Given the description of an element on the screen output the (x, y) to click on. 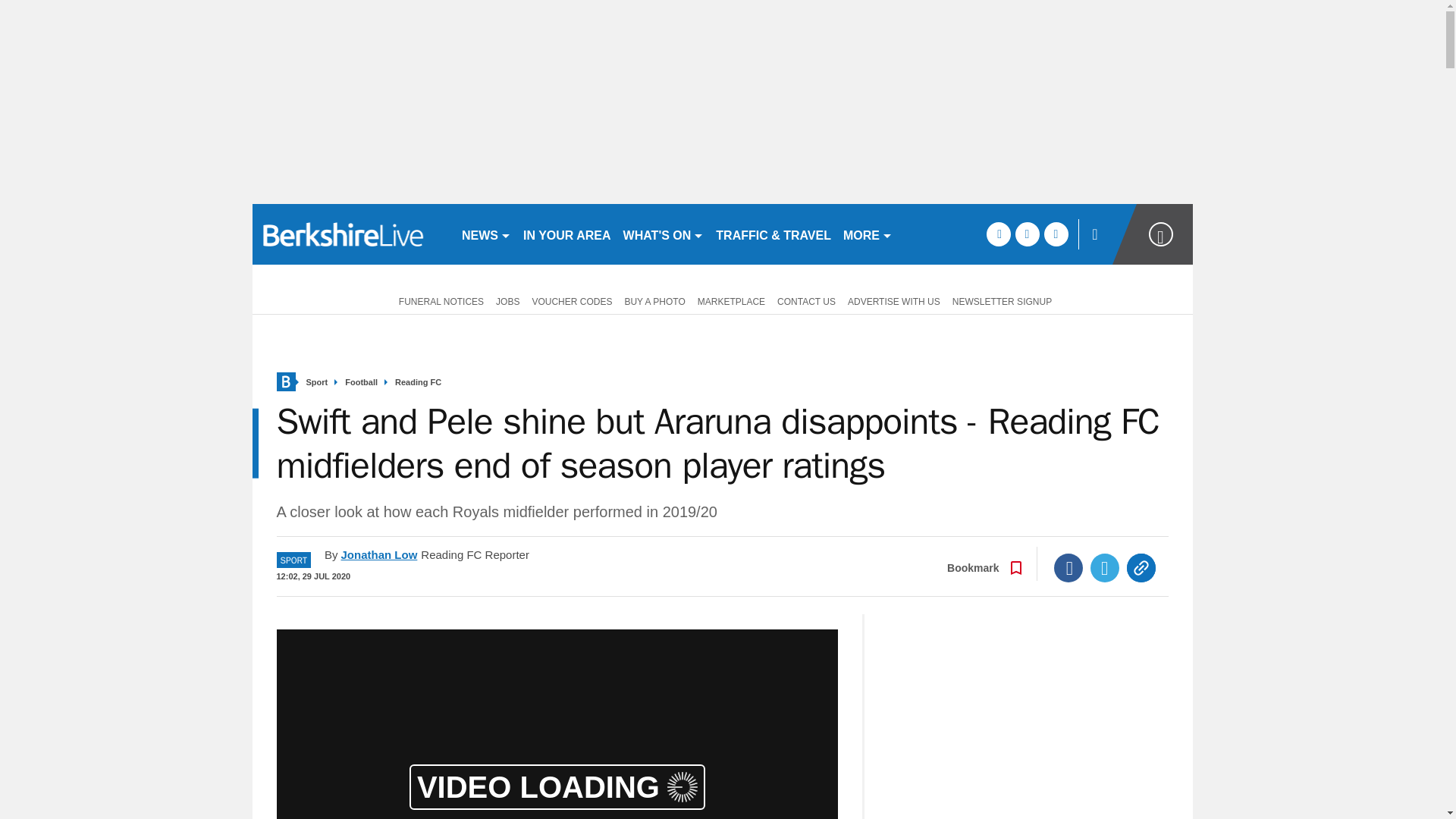
WHAT'S ON (663, 233)
twitter (1026, 233)
facebook (997, 233)
Twitter (1104, 567)
IN YOUR AREA (566, 233)
MORE (867, 233)
getreading (349, 233)
Facebook (1068, 567)
NEWS (485, 233)
instagram (1055, 233)
